Given the description of an element on the screen output the (x, y) to click on. 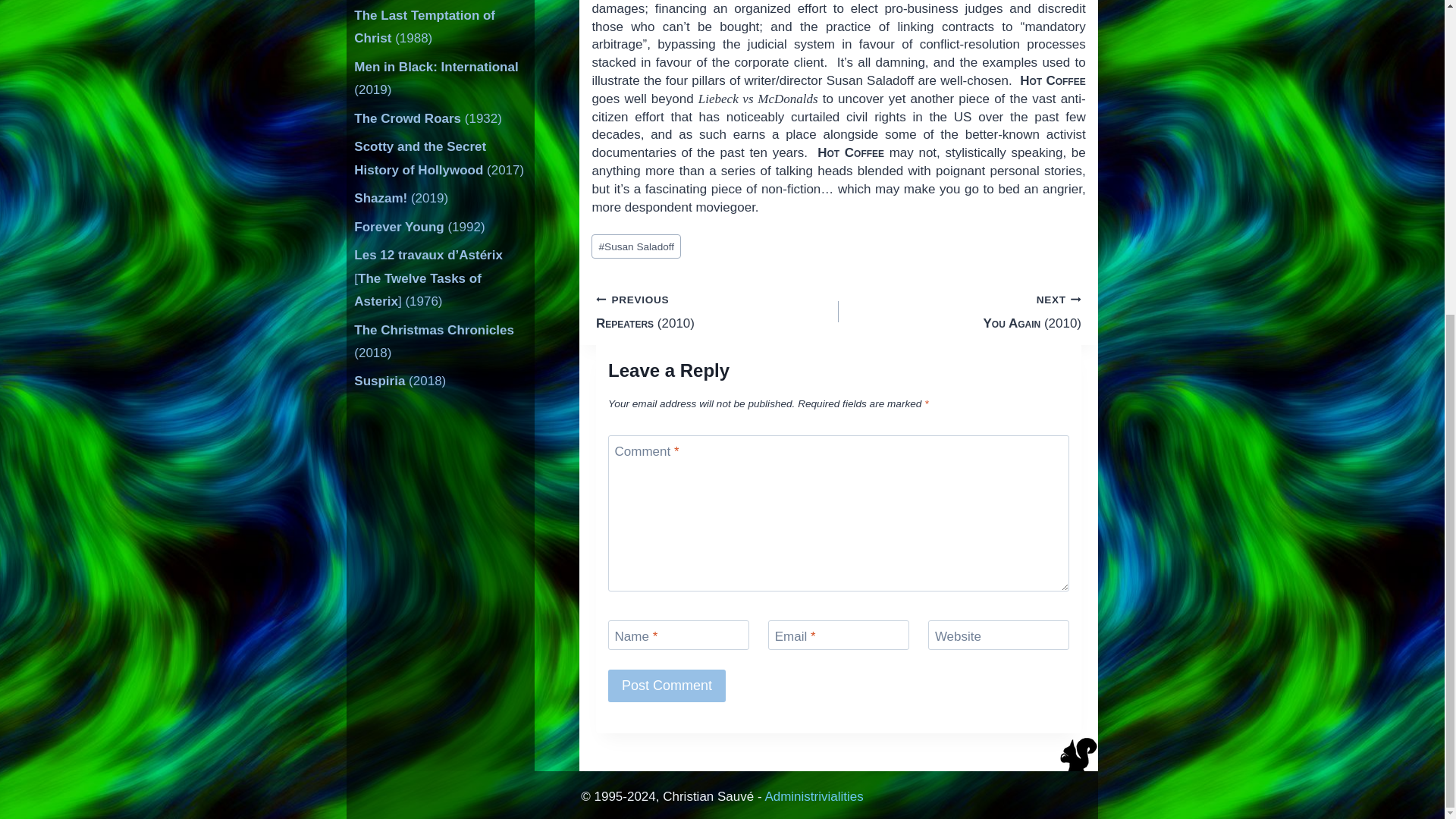
Susan Saladoff (636, 246)
Post Comment (666, 685)
Post Comment (666, 685)
